Given the description of an element on the screen output the (x, y) to click on. 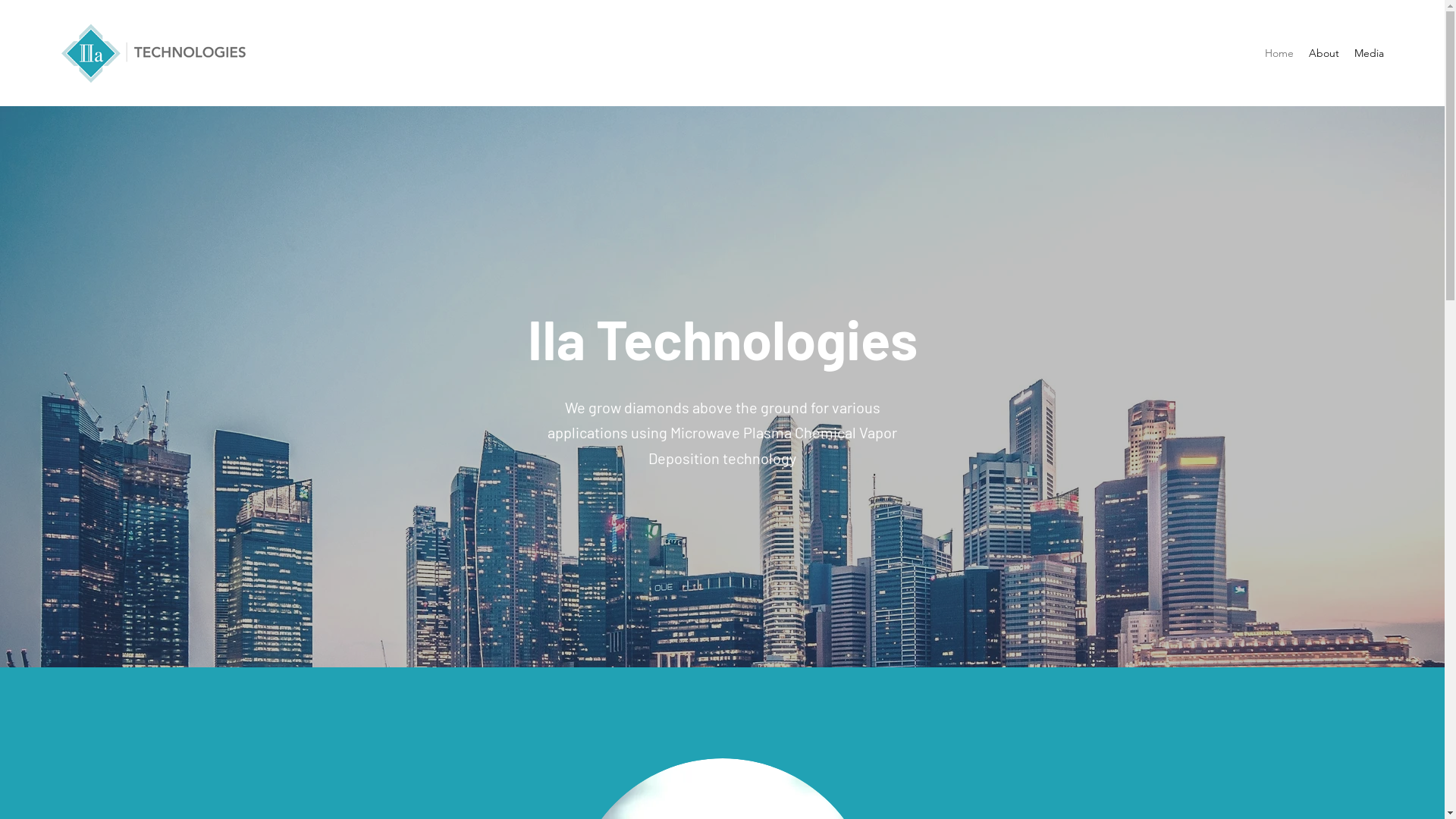
About Element type: text (1323, 52)
Media Element type: text (1368, 52)
Home Element type: text (1279, 52)
